Given the description of an element on the screen output the (x, y) to click on. 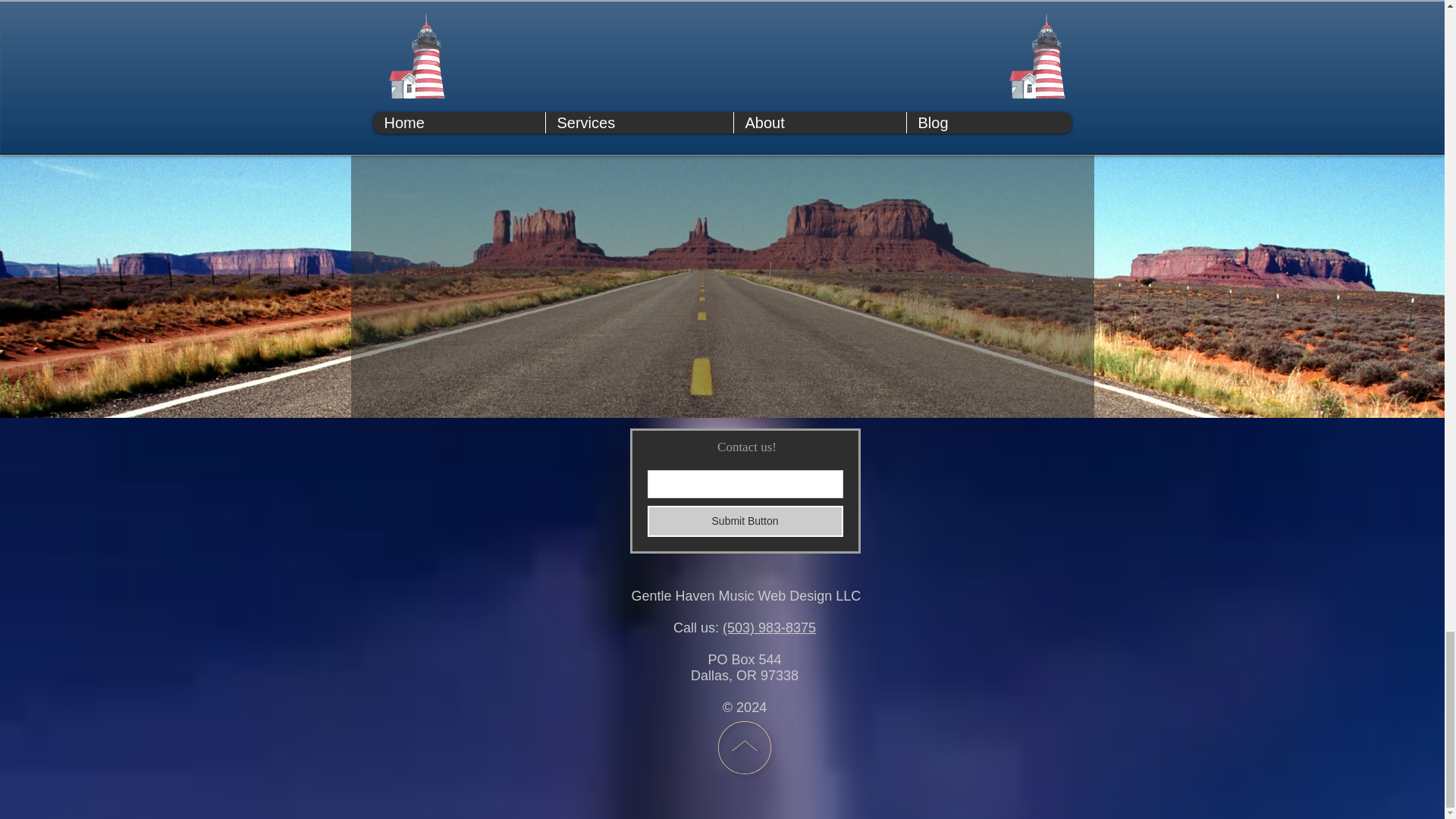
Submit Button (745, 521)
